Given the description of an element on the screen output the (x, y) to click on. 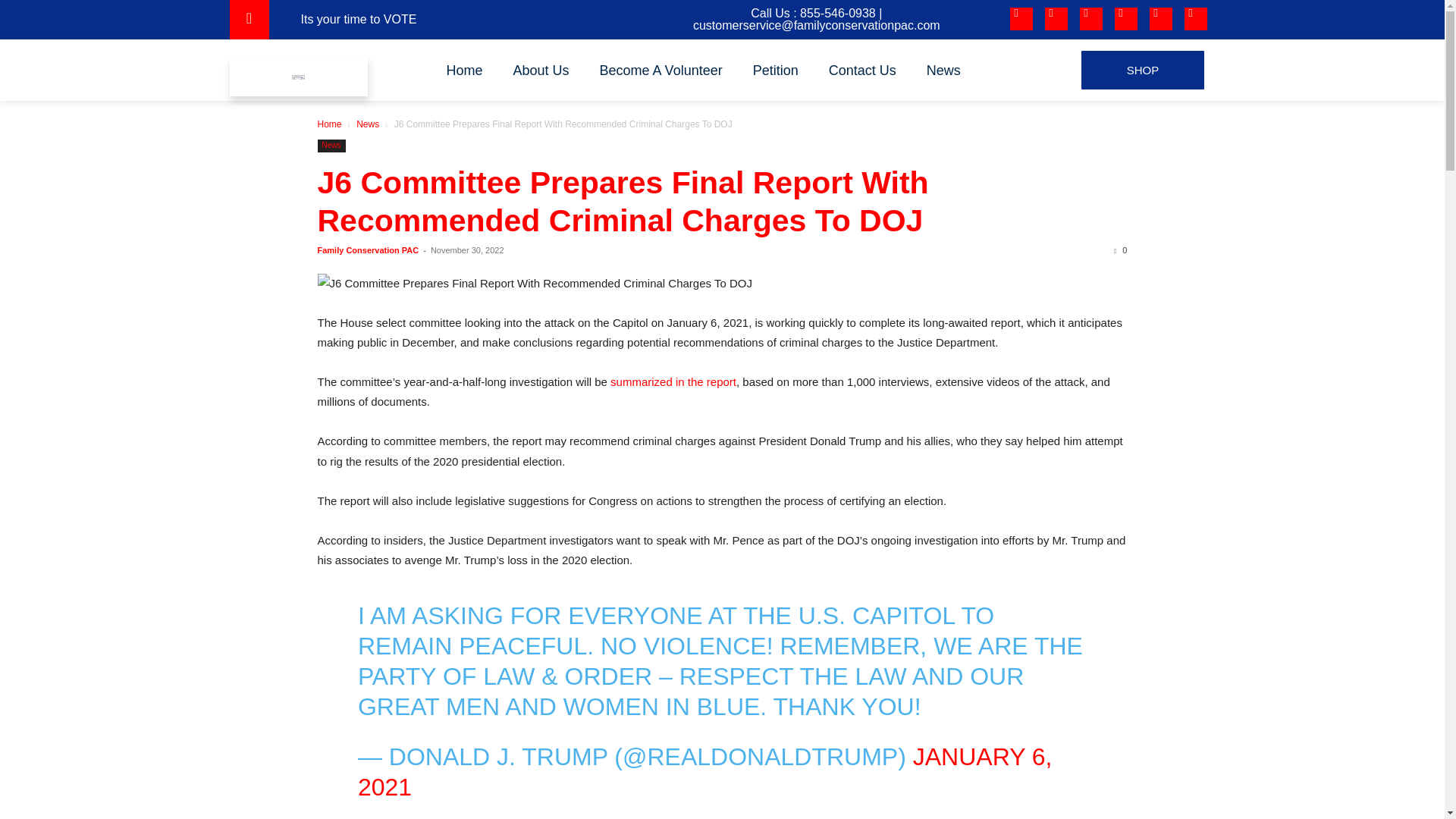
JANUARY 6, 2021 (705, 771)
News (367, 123)
Become A Volunteer (661, 69)
About Us (541, 69)
Family Conservation PAC (368, 249)
Petition (775, 69)
News (331, 145)
Contact Us (862, 69)
Home (463, 69)
0 (1119, 249)
Home (328, 123)
View all posts in News (367, 123)
News (943, 69)
